Given the description of an element on the screen output the (x, y) to click on. 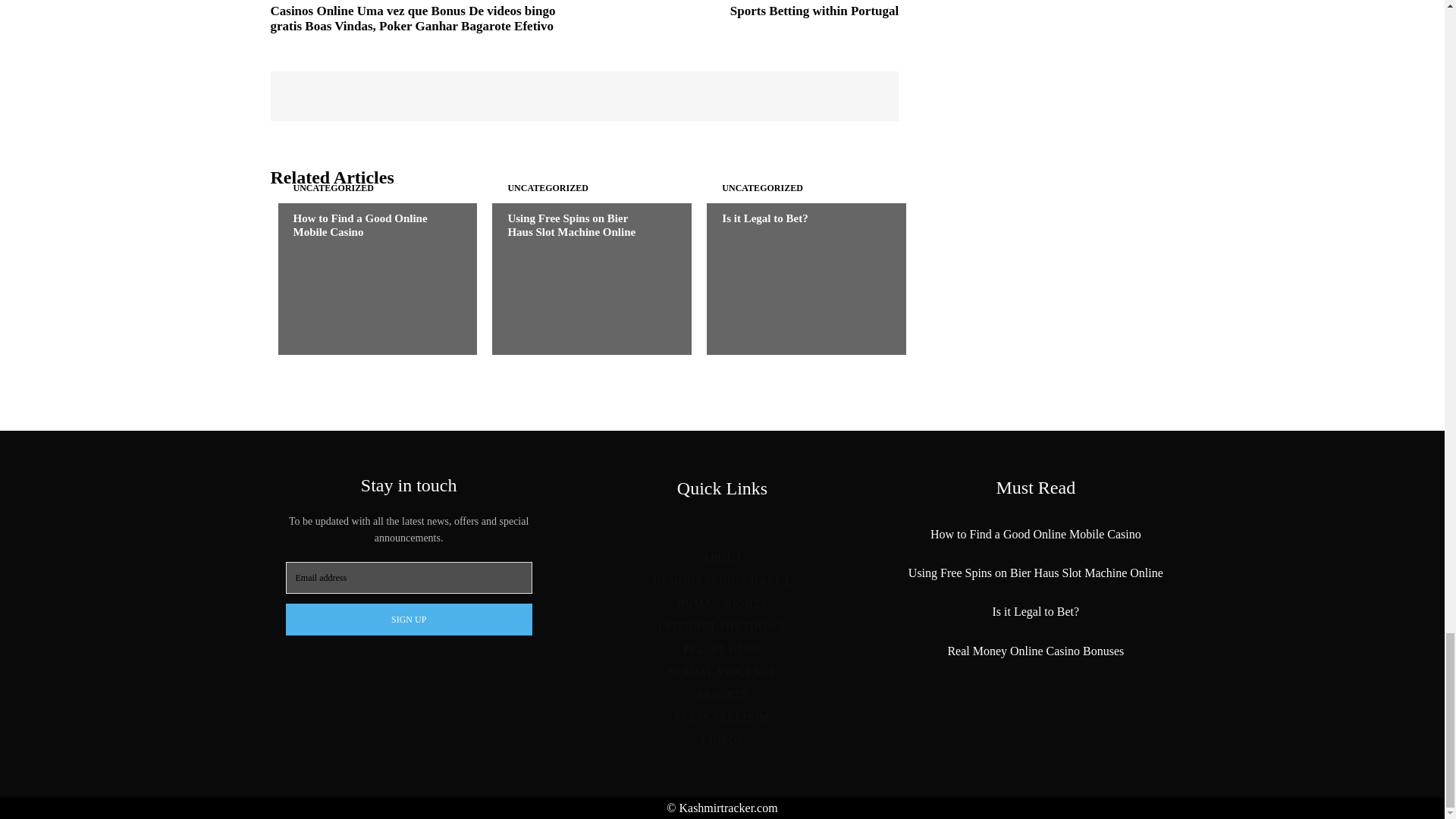
How to Find a Good Online Mobile Casino (359, 225)
Using Free Spins on Bier Haus Slot Machine Online (584, 278)
Is it Legal to Bet? (798, 278)
How to Find a Good Online Mobile Casino (368, 278)
Using Free Spins on Bier Haus Slot Machine Online (570, 225)
